Given the description of an element on the screen output the (x, y) to click on. 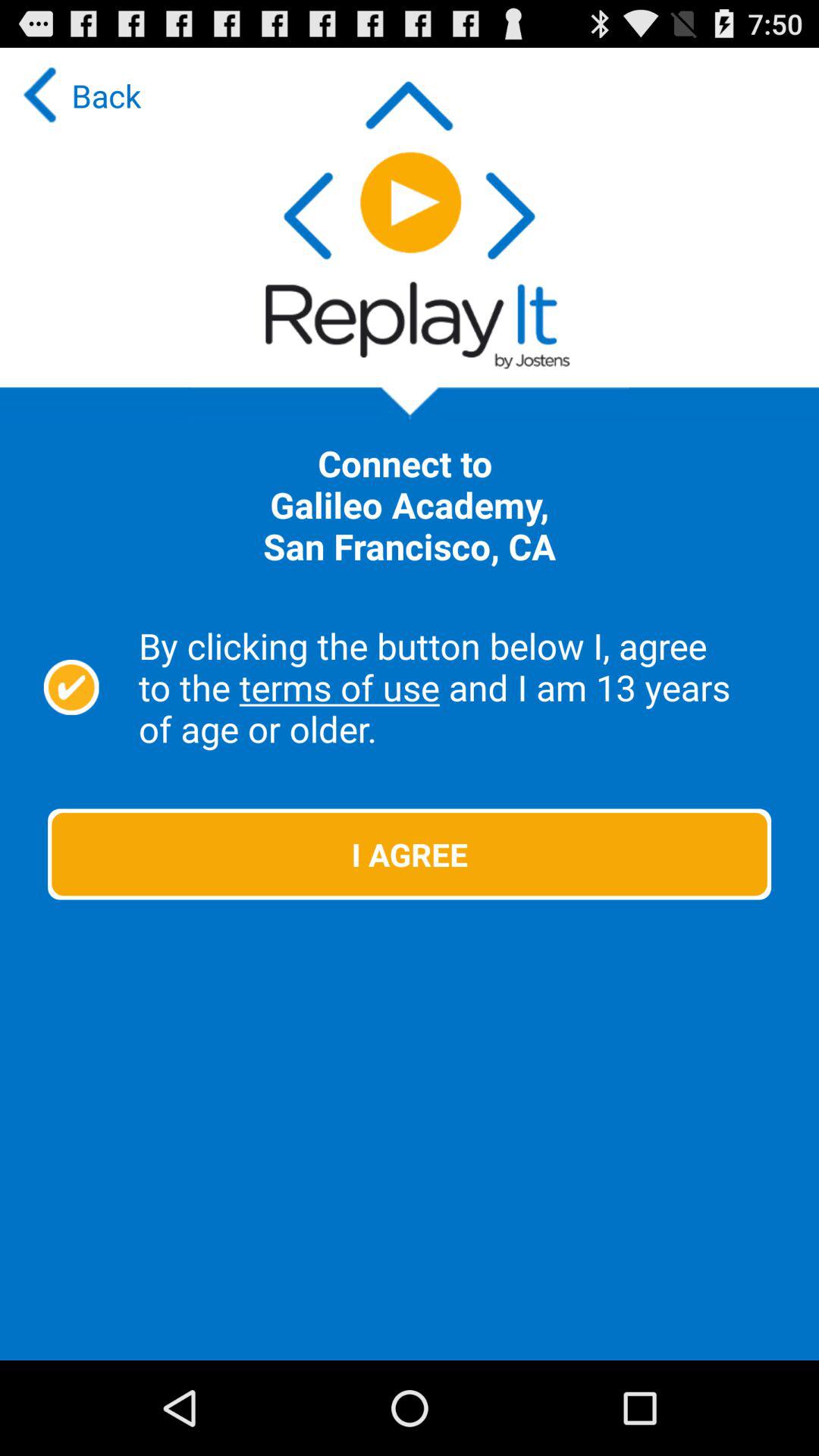
agree (70, 686)
